Given the description of an element on the screen output the (x, y) to click on. 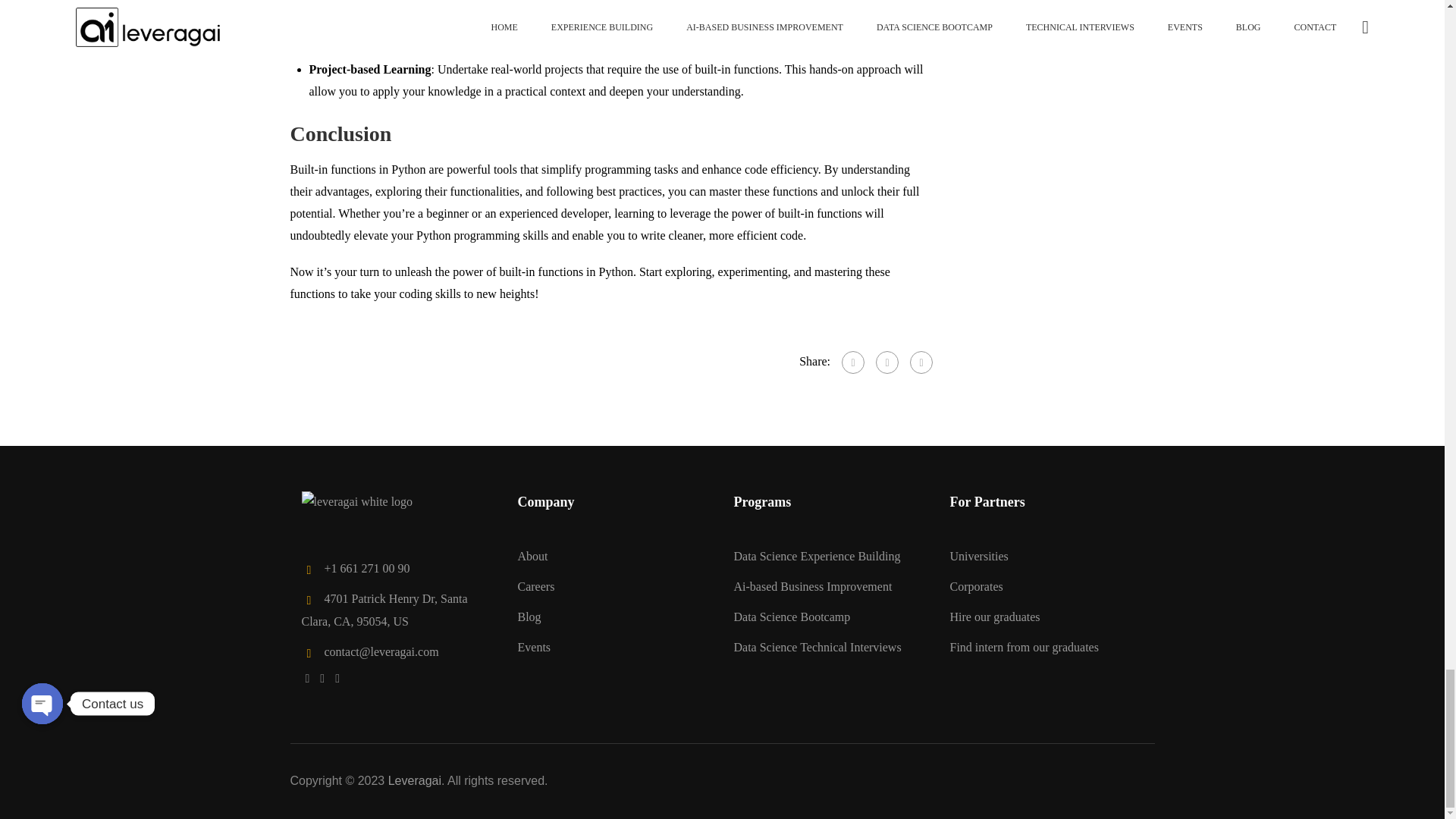
Facebook (852, 362)
Twitter (887, 362)
Pinterest (921, 362)
